Given the description of an element on the screen output the (x, y) to click on. 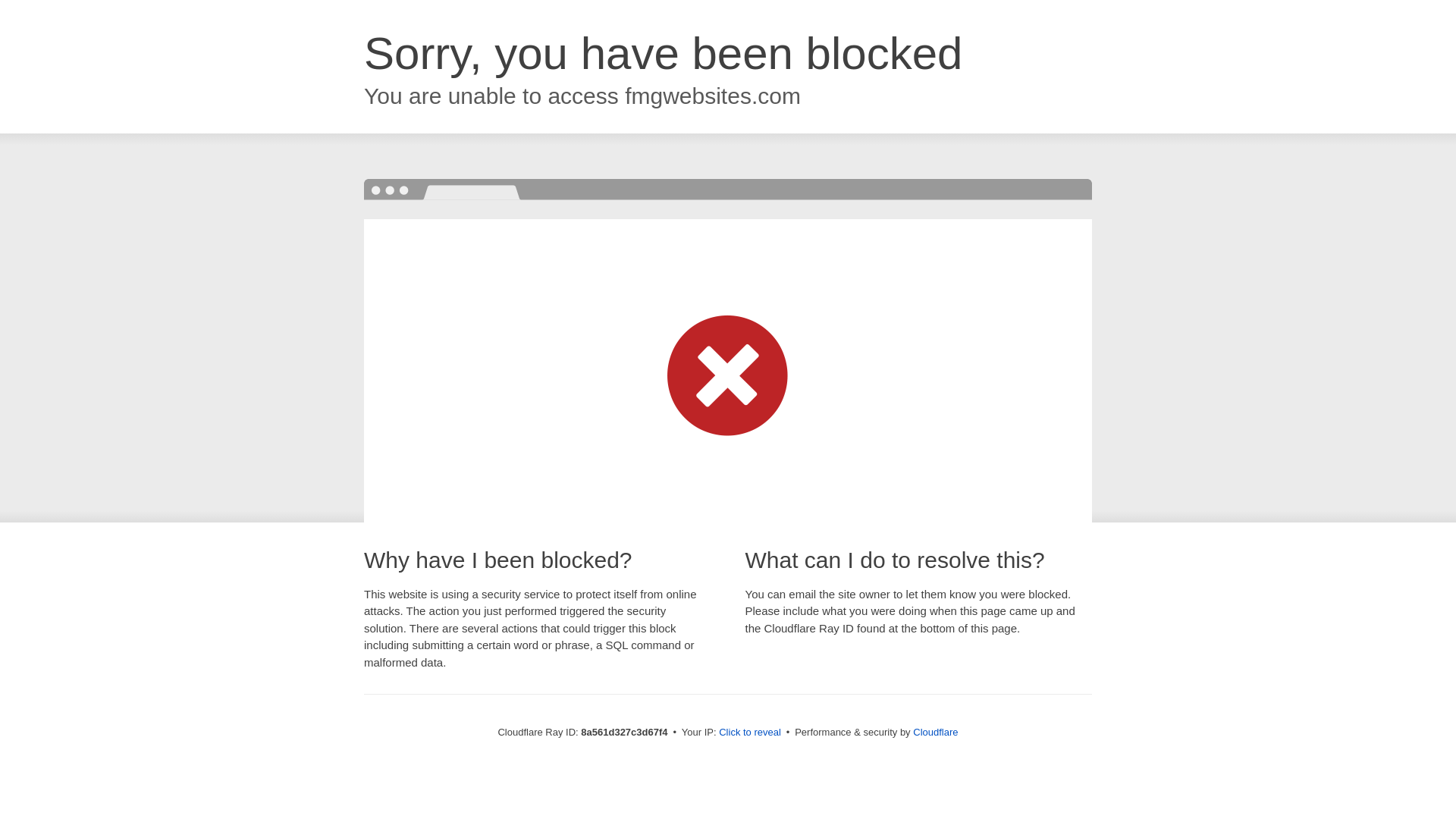
Cloudflare (935, 731)
Click to reveal (749, 732)
